Given the description of an element on the screen output the (x, y) to click on. 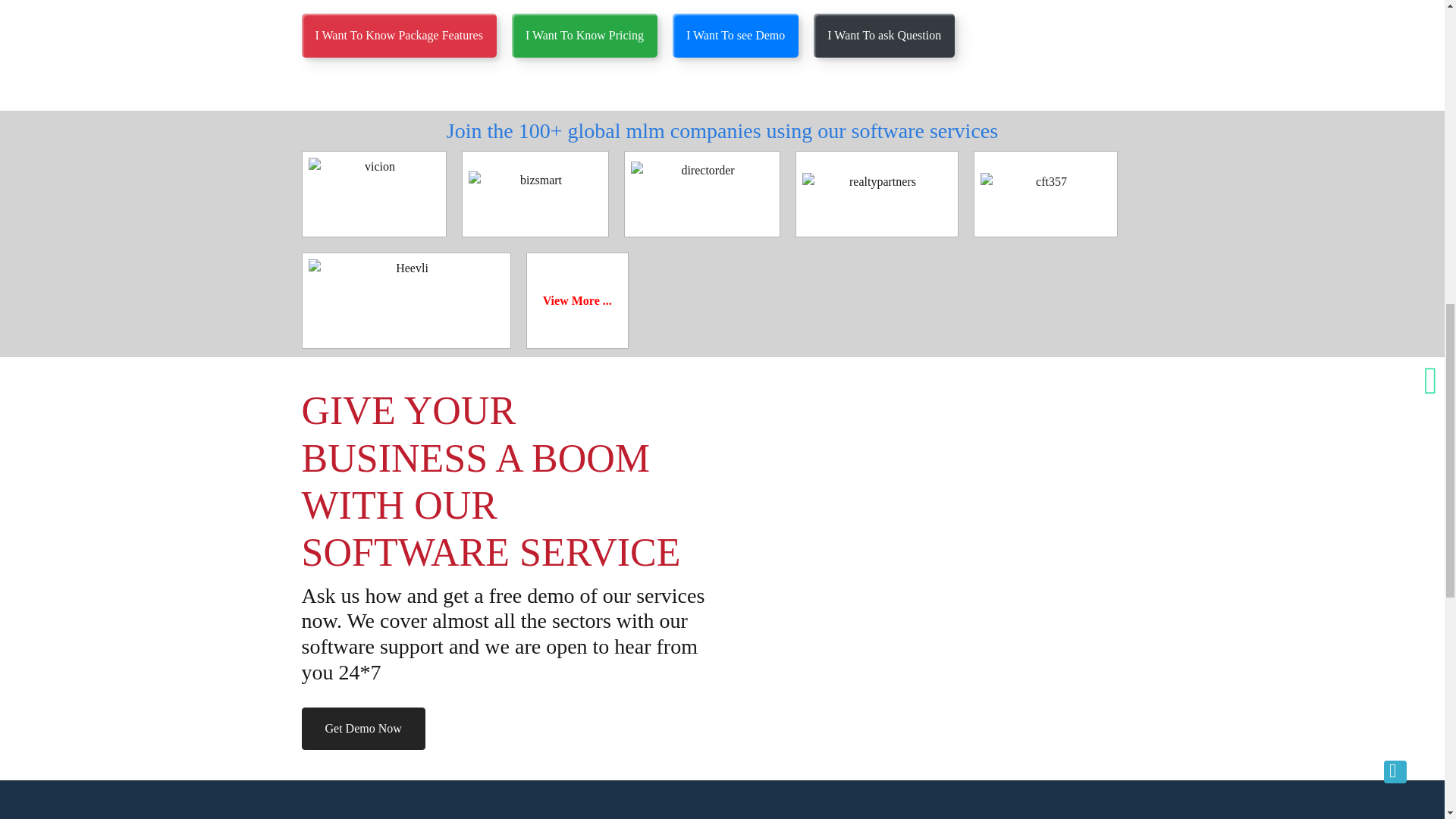
View More ... (577, 300)
I Want To Know Package Features (398, 35)
I Want To ask Question (884, 35)
Get Demo Now (363, 728)
I Want To Know Pricing (585, 35)
I Want To see Demo (734, 35)
